Given the description of an element on the screen output the (x, y) to click on. 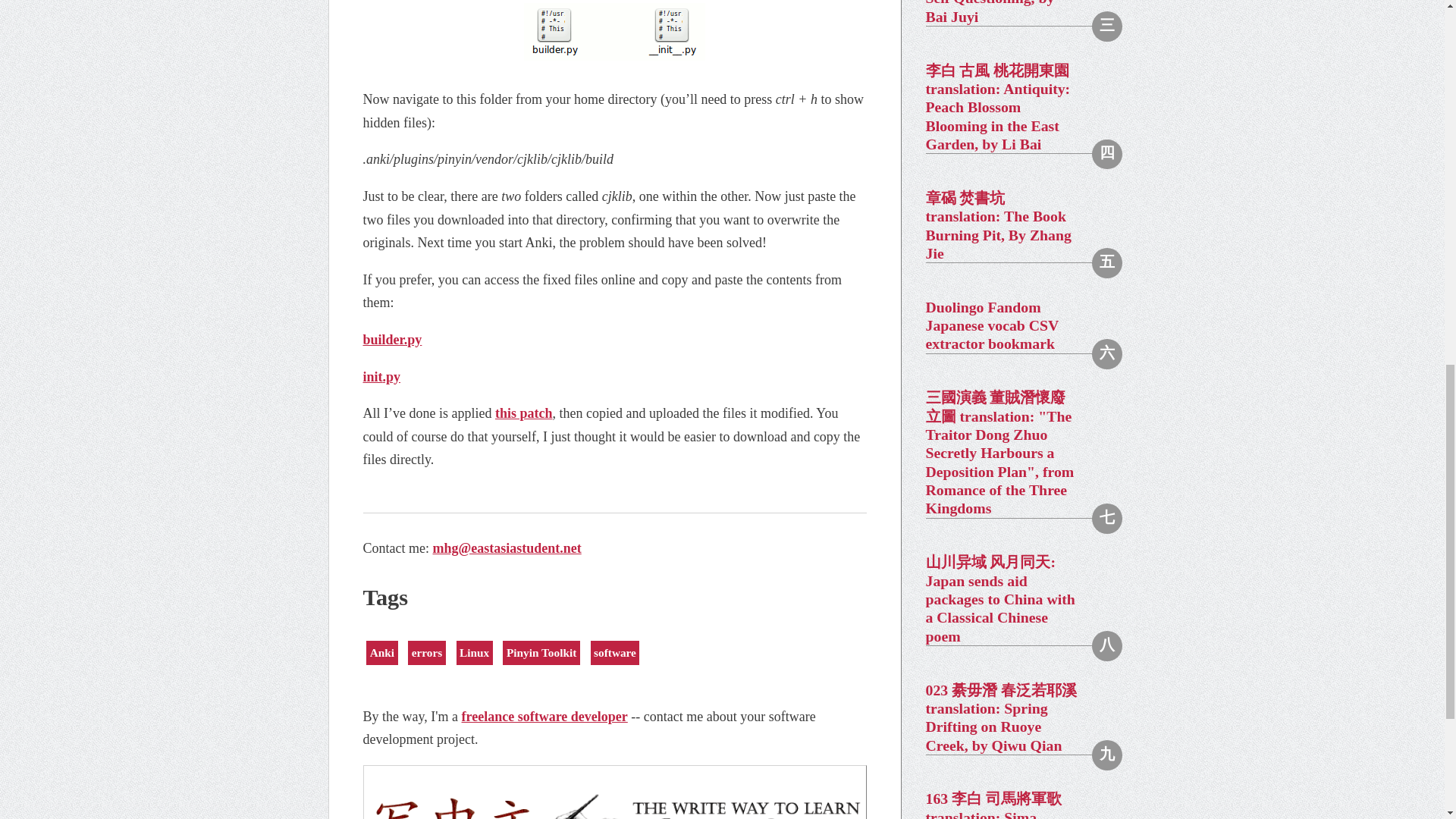
cjklib patch to match sqlalchemy changes (524, 412)
Anki (381, 652)
software (615, 652)
Freelance Software Development (544, 716)
Linux (475, 652)
freelance software developer (544, 716)
init.py (381, 376)
this patch (524, 412)
errors (426, 652)
Pinyin Toolkit (540, 652)
builder.py (392, 339)
Duolingo Fandom Japanese vocab CSV extractor bookmark (1015, 325)
